Given the description of an element on the screen output the (x, y) to click on. 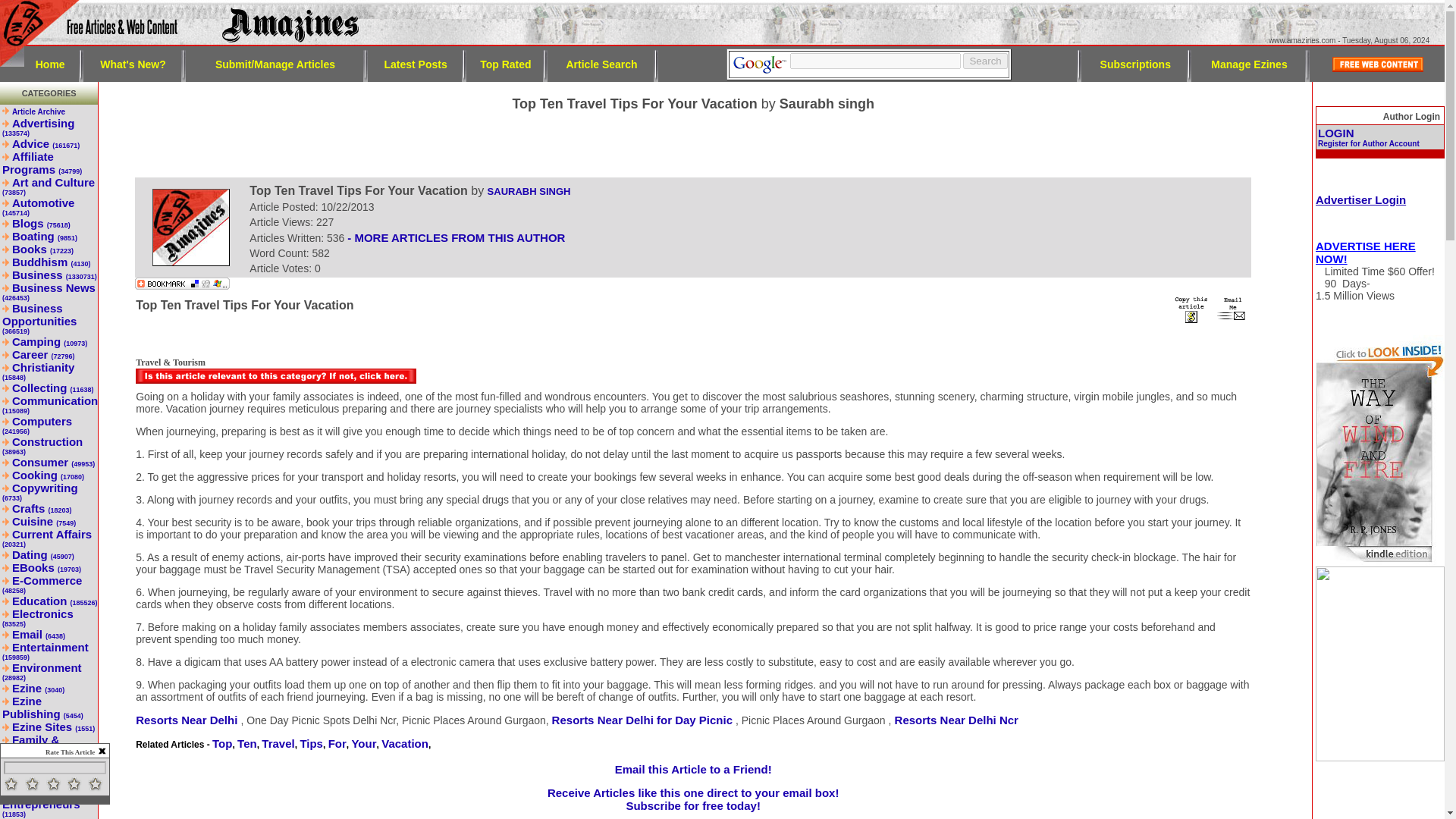
Article Archive (38, 110)
Manage Ezines (1249, 63)
Home (49, 63)
Search (984, 60)
Latest Posts (415, 63)
Article Search (601, 63)
Bookmark using any bookmark manager! (182, 285)
What's New? (132, 63)
Search (984, 60)
Top Rated (505, 63)
